Given the description of an element on the screen output the (x, y) to click on. 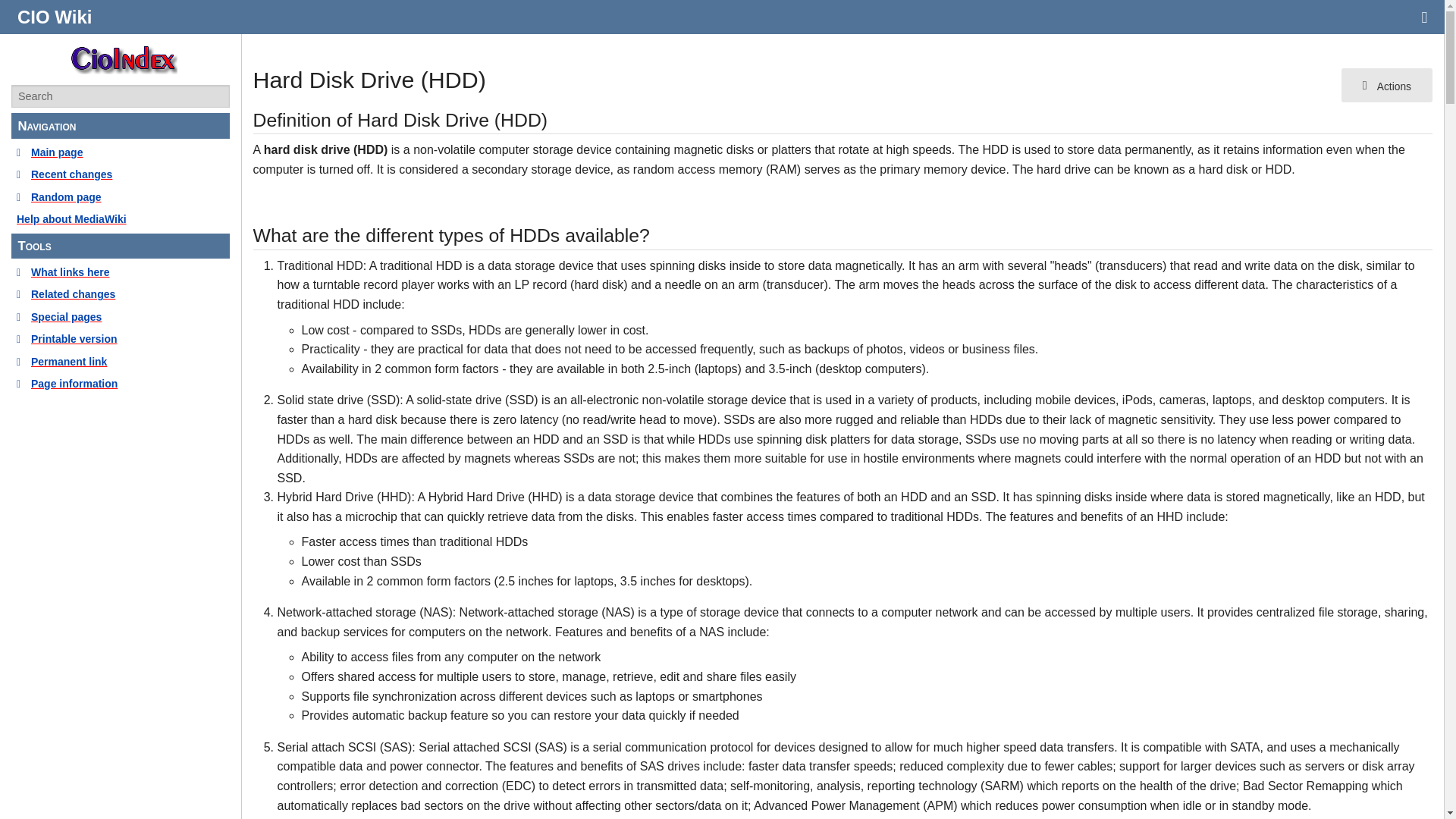
 Actions (1386, 84)
Random page (120, 197)
Related changes (120, 293)
What links here (120, 271)
Permanent link (120, 361)
Main page (120, 152)
Page information (120, 383)
Recent changes (120, 174)
Help about MediaWiki (120, 218)
CIO Wiki (54, 16)
Special pages (120, 316)
Printable version (120, 338)
